Given the description of an element on the screen output the (x, y) to click on. 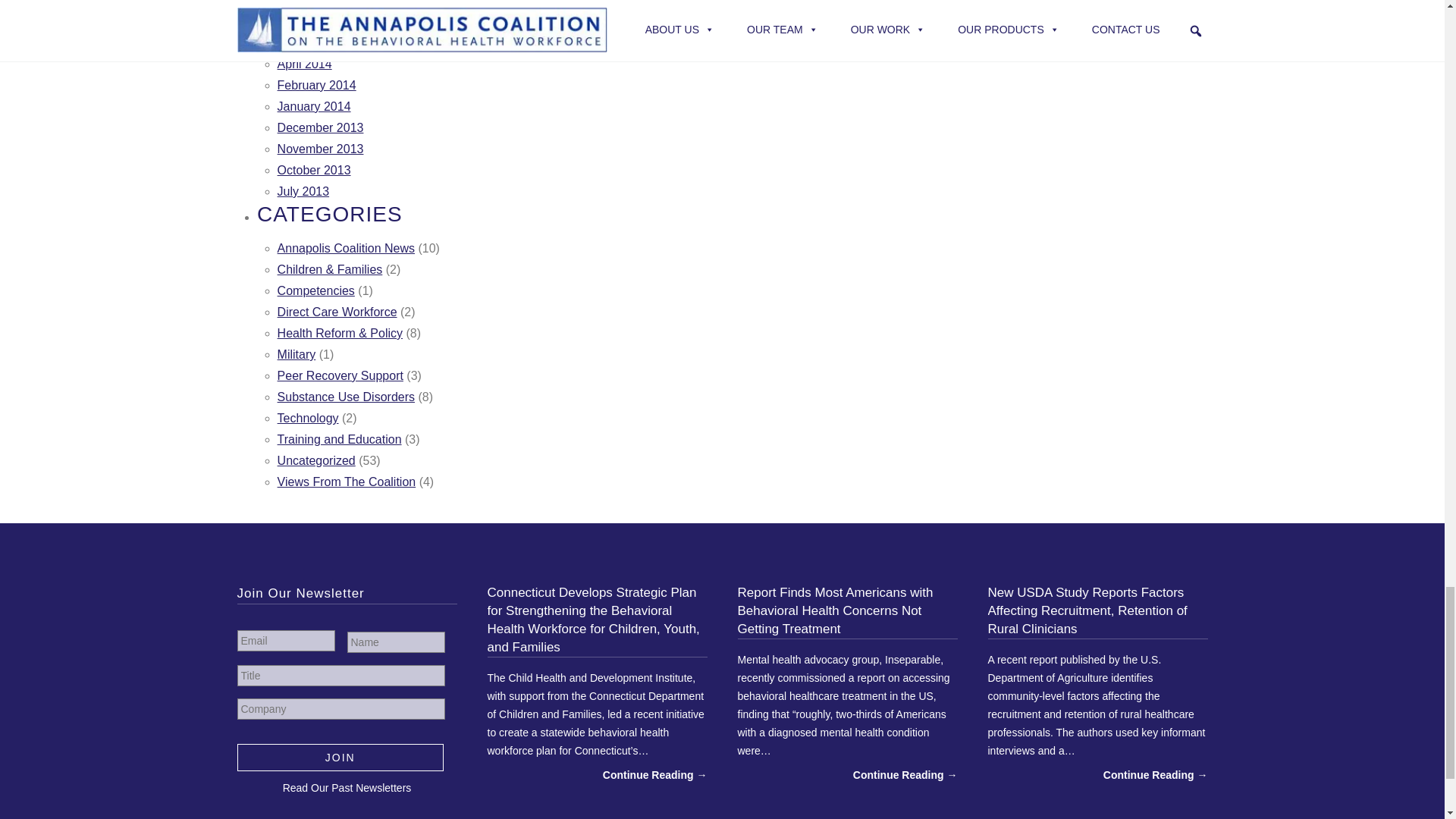
Join (339, 756)
